Given the description of an element on the screen output the (x, y) to click on. 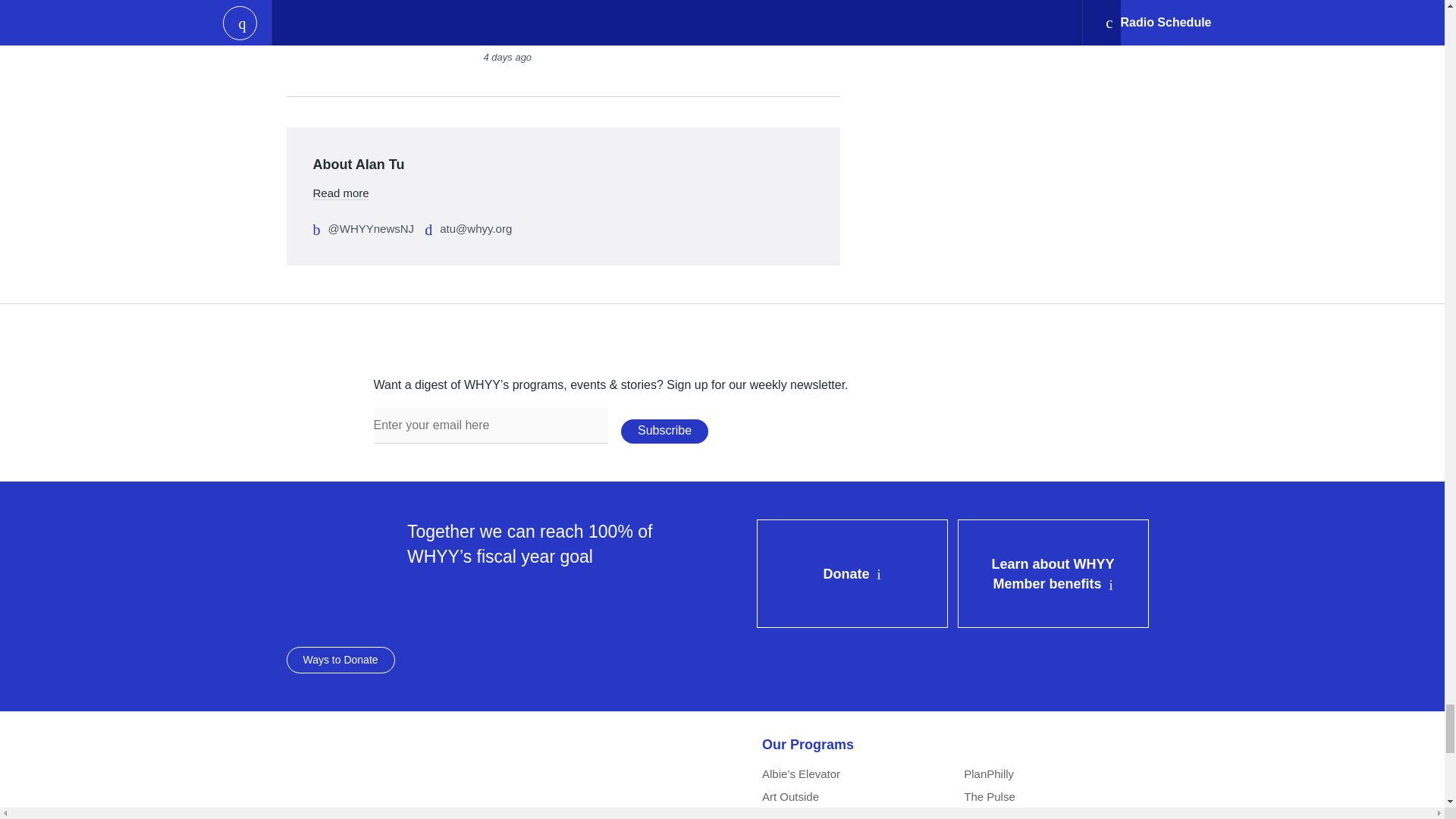
Subscribe (664, 431)
